Given the description of an element on the screen output the (x, y) to click on. 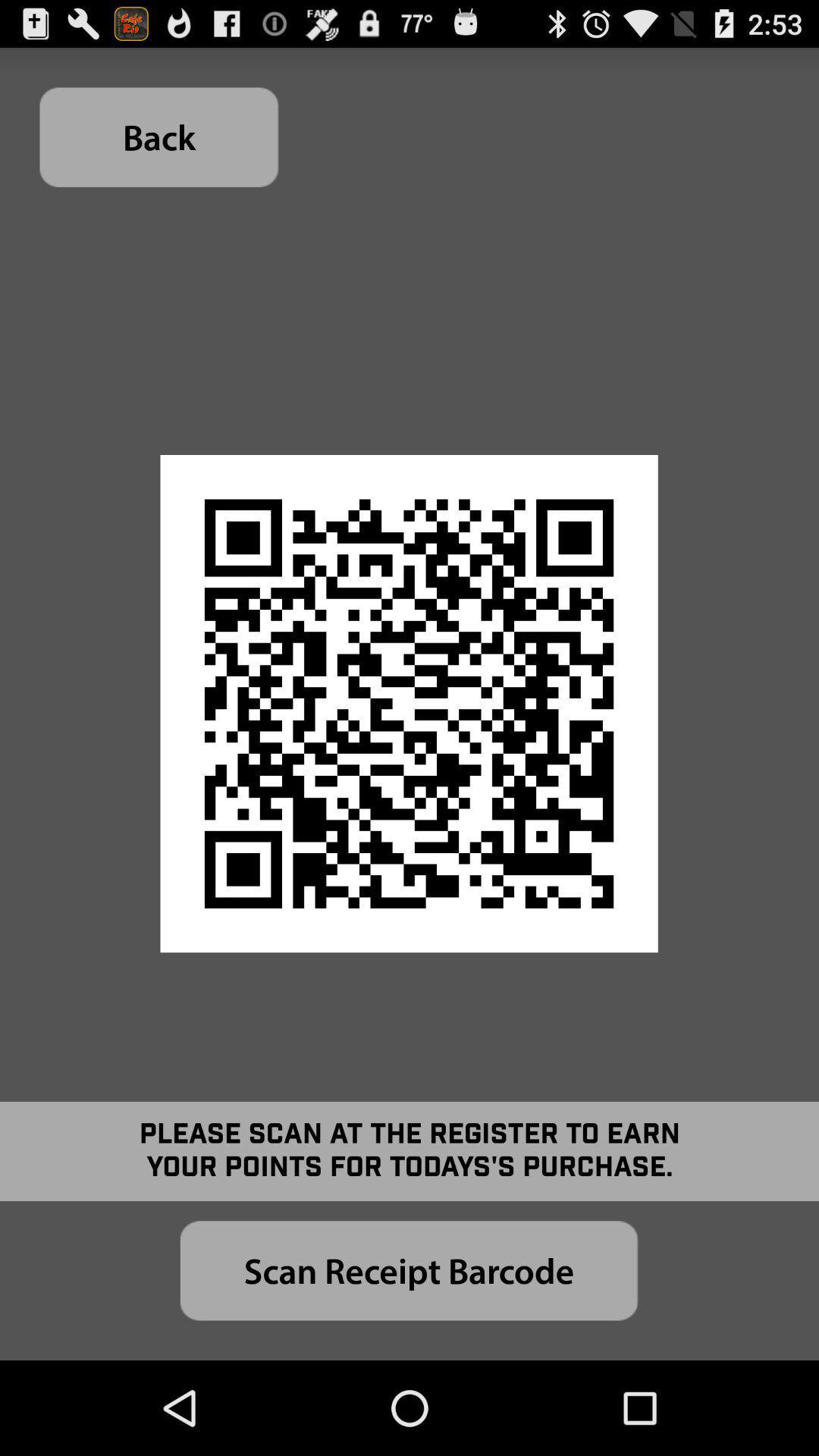
jump until the scan receipt barcode icon (409, 1270)
